Given the description of an element on the screen output the (x, y) to click on. 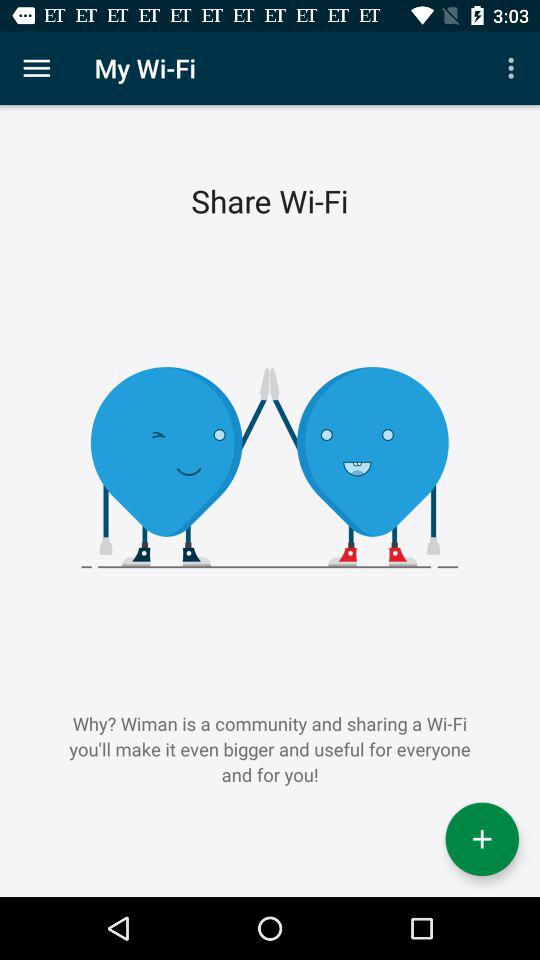
open the icon at the bottom right corner (482, 839)
